Given the description of an element on the screen output the (x, y) to click on. 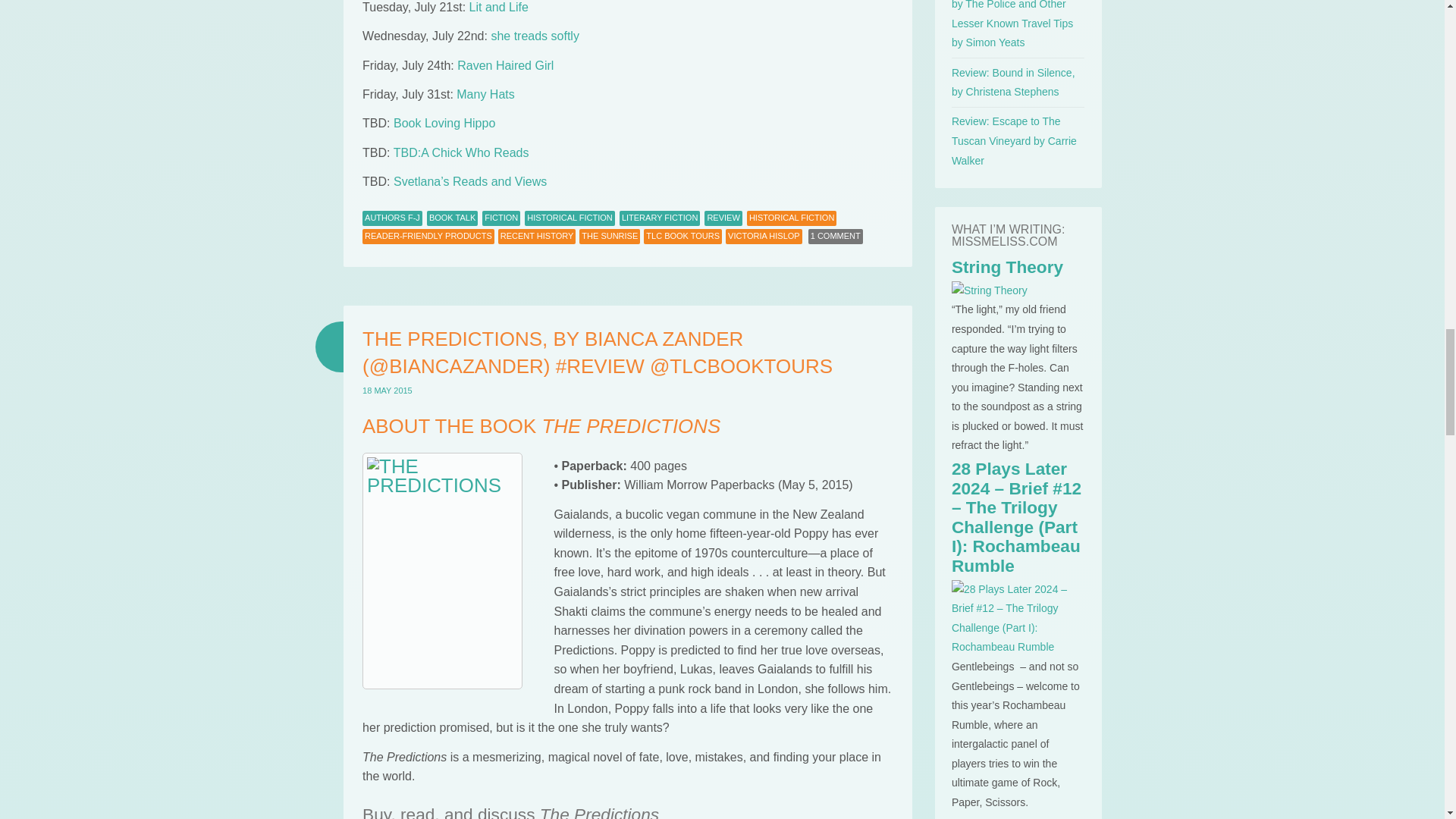
Lit and Life (498, 6)
Many Hats (485, 93)
10:00 (387, 389)
Raven Haired Girl (505, 65)
she treads softly (534, 35)
